Given the description of an element on the screen output the (x, y) to click on. 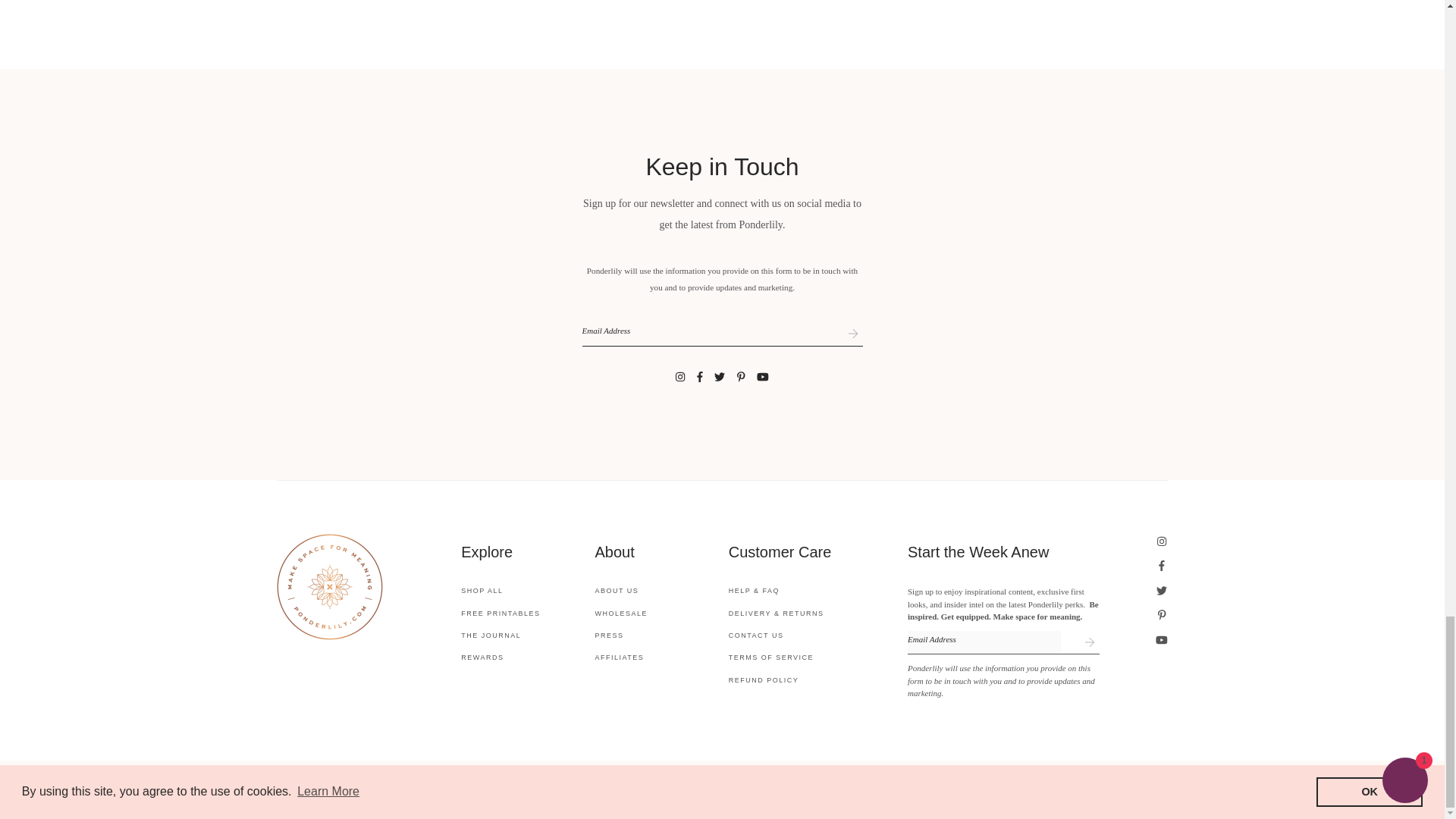
Ponderlily on Twitter (1161, 591)
Ponderlily on YouTube (1161, 640)
Ponderlily on Twitter (719, 377)
Ponderlily on YouTube (762, 377)
